Given the description of an element on the screen output the (x, y) to click on. 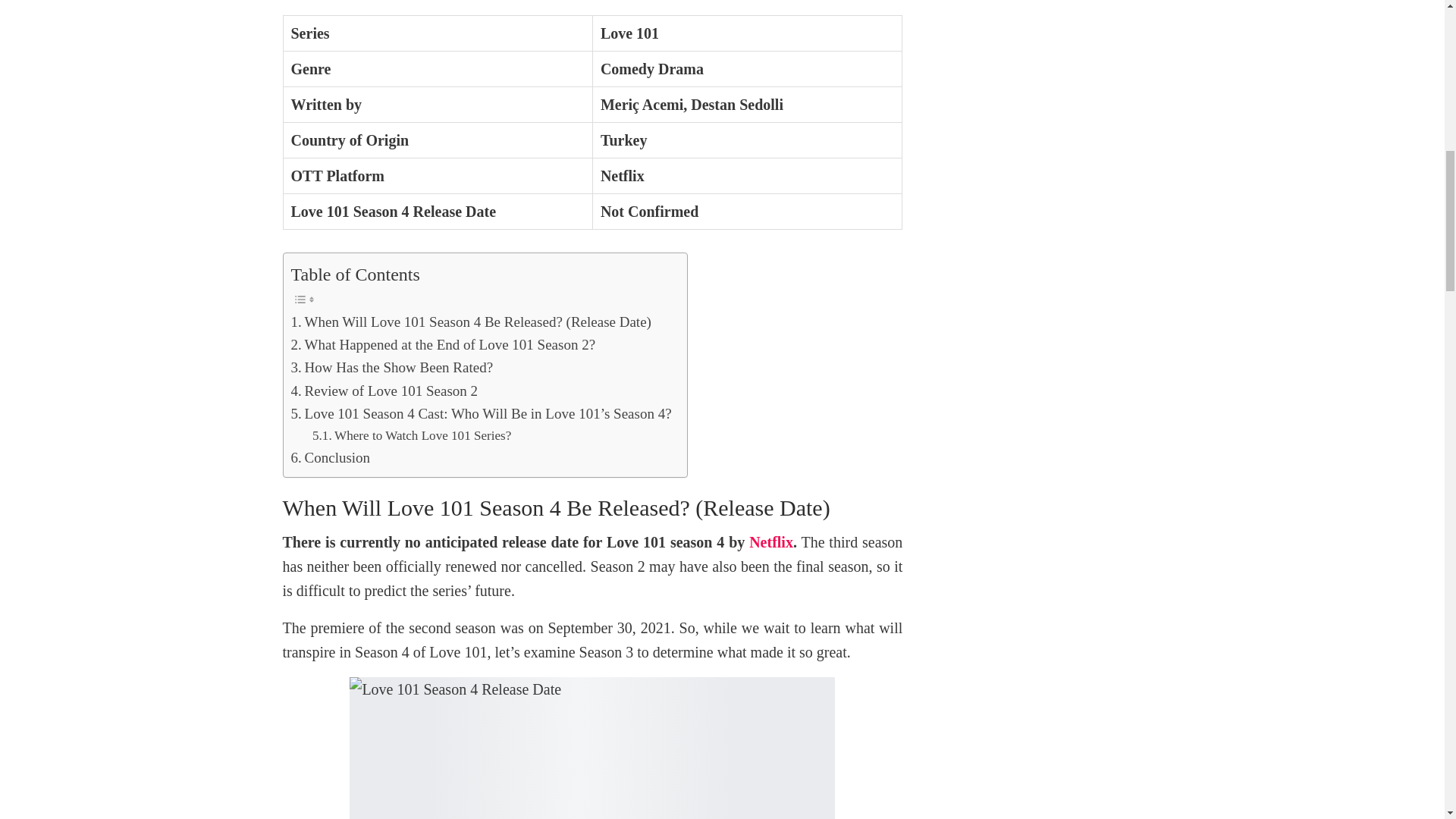
Where to Watch Love 101 Series? (412, 435)
Conclusion (331, 457)
Review of Love 101 Season 2 (385, 391)
What Happened at the End of Love 101 Season 2? (443, 344)
Where to Watch Love 101 Series? (412, 435)
How Has the Show Been Rated? (392, 367)
Review of Love 101 Season 2 (385, 391)
How Has the Show Been Rated? (392, 367)
Netflix (771, 541)
Conclusion (331, 457)
